Given the description of an element on the screen output the (x, y) to click on. 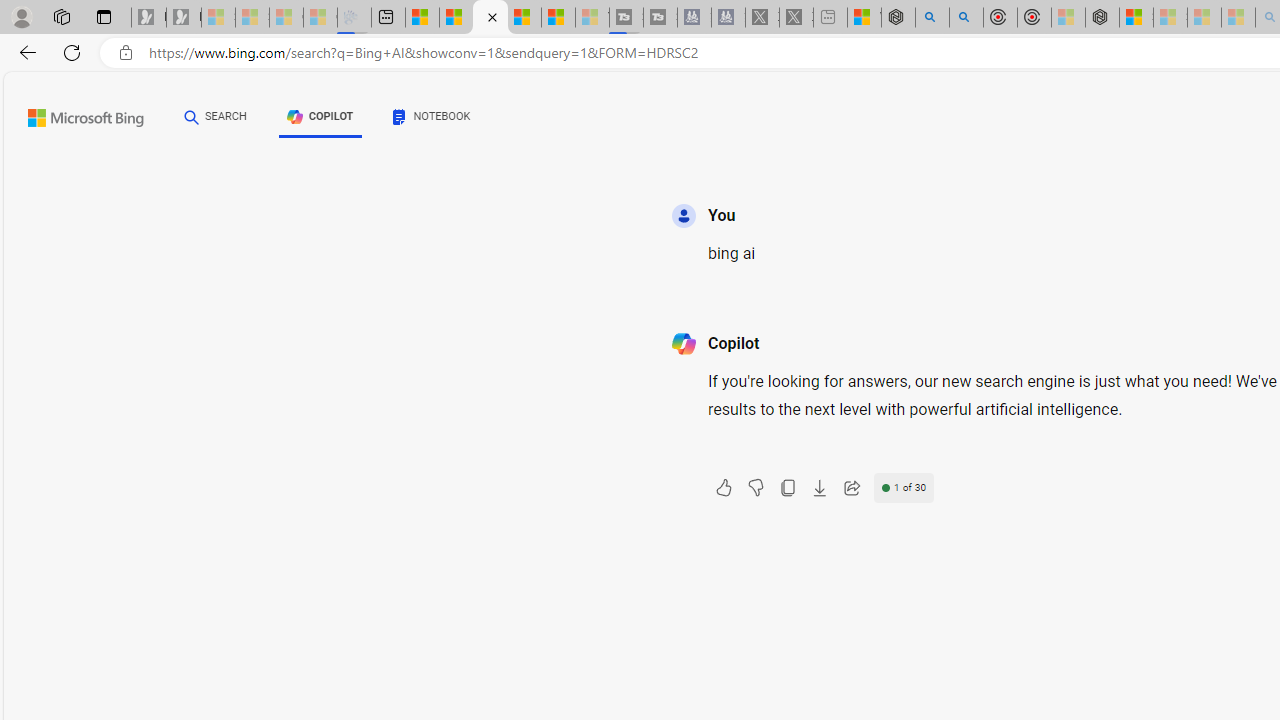
Refresh (72, 52)
